Given the description of an element on the screen output the (x, y) to click on. 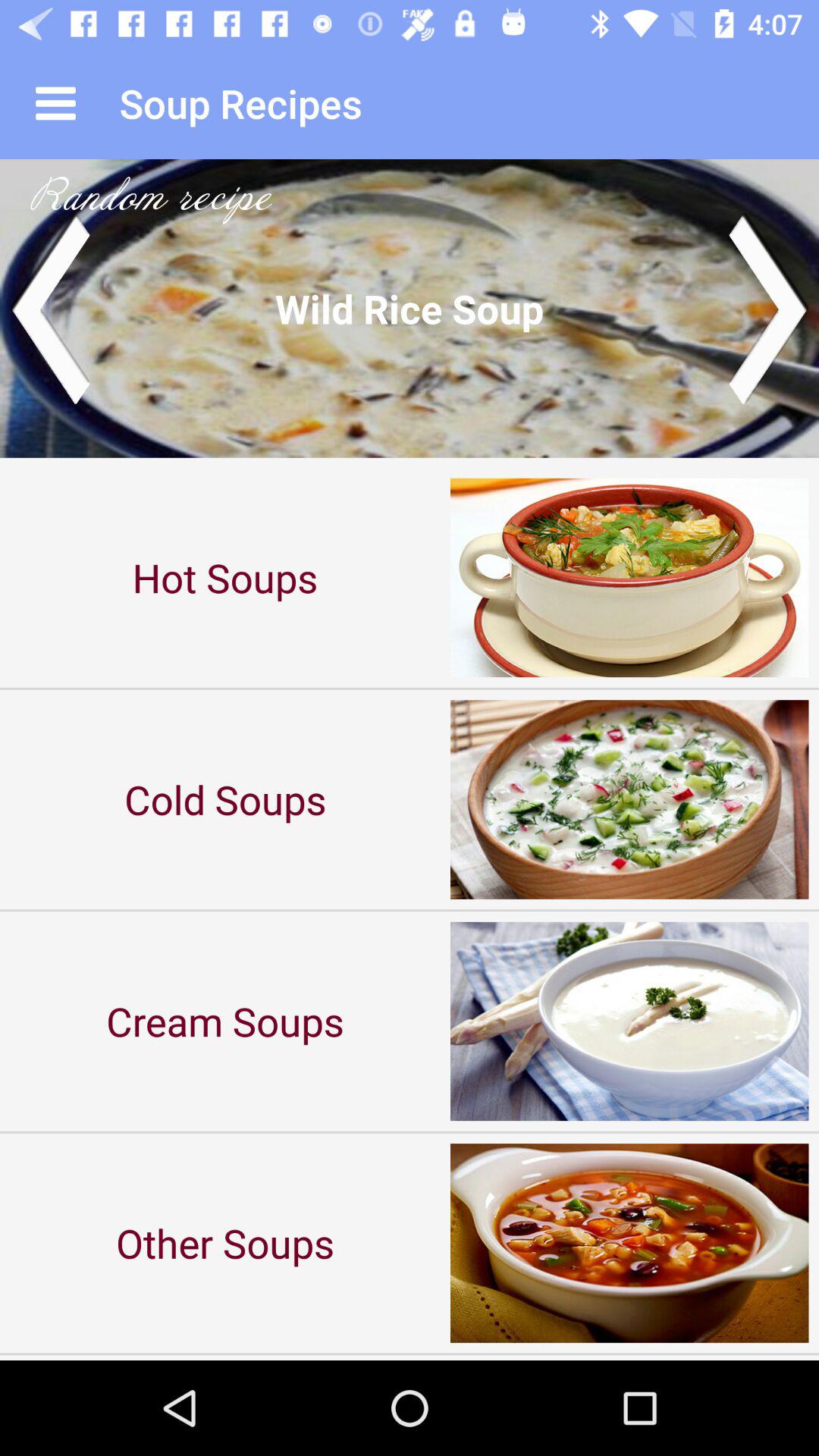
launch icon above cold soups item (225, 577)
